Given the description of an element on the screen output the (x, y) to click on. 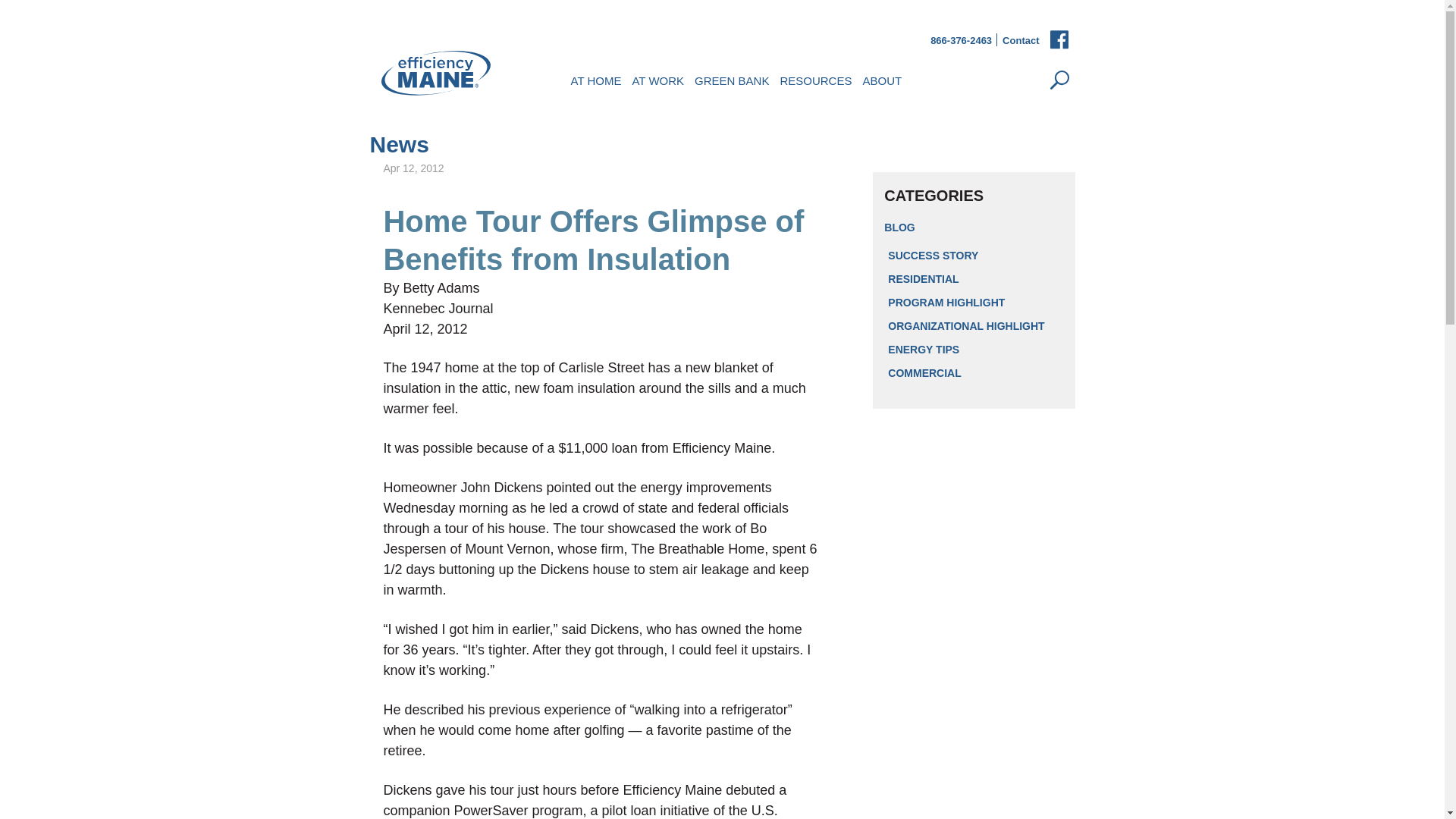
Contact (1021, 40)
Search (1060, 79)
Efficiency Maine (434, 72)
866-376-2463 (960, 40)
AT HOME (596, 78)
